Given the description of an element on the screen output the (x, y) to click on. 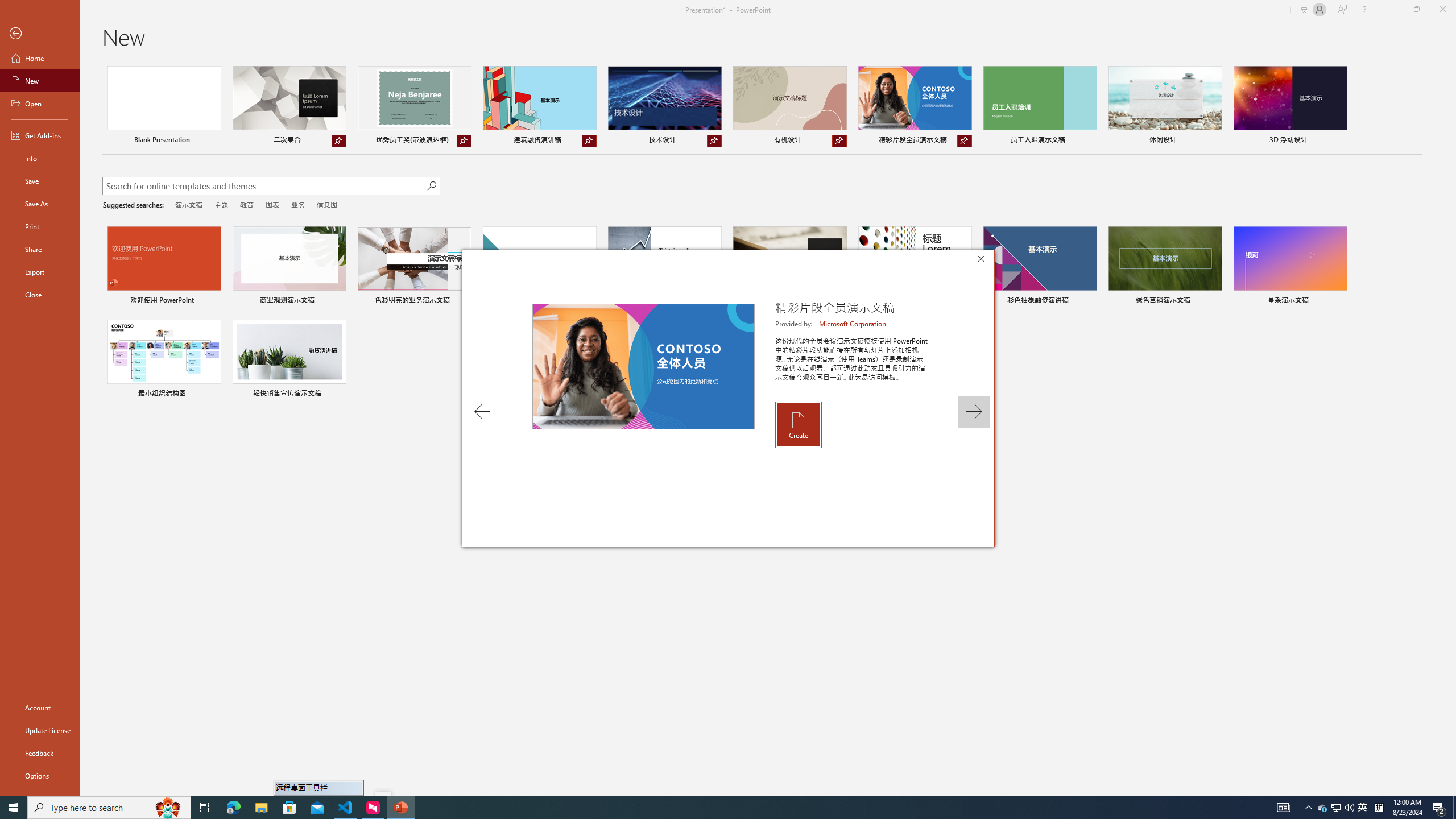
Account (40, 707)
Start searching (431, 185)
Get Add-ins (40, 134)
Info (40, 157)
